Given the description of an element on the screen output the (x, y) to click on. 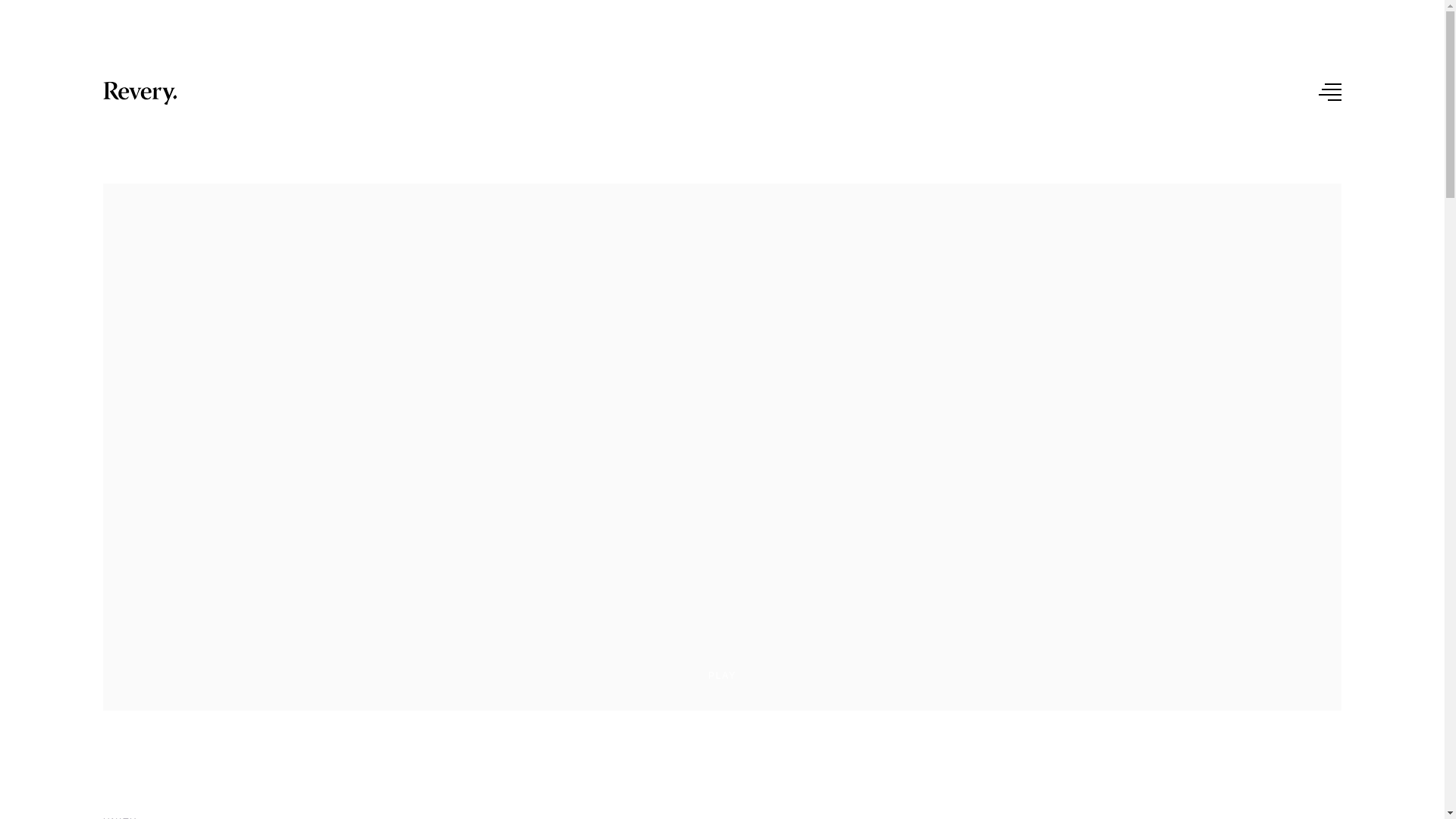
Menu (1329, 91)
Revery (139, 92)
